Given the description of an element on the screen output the (x, y) to click on. 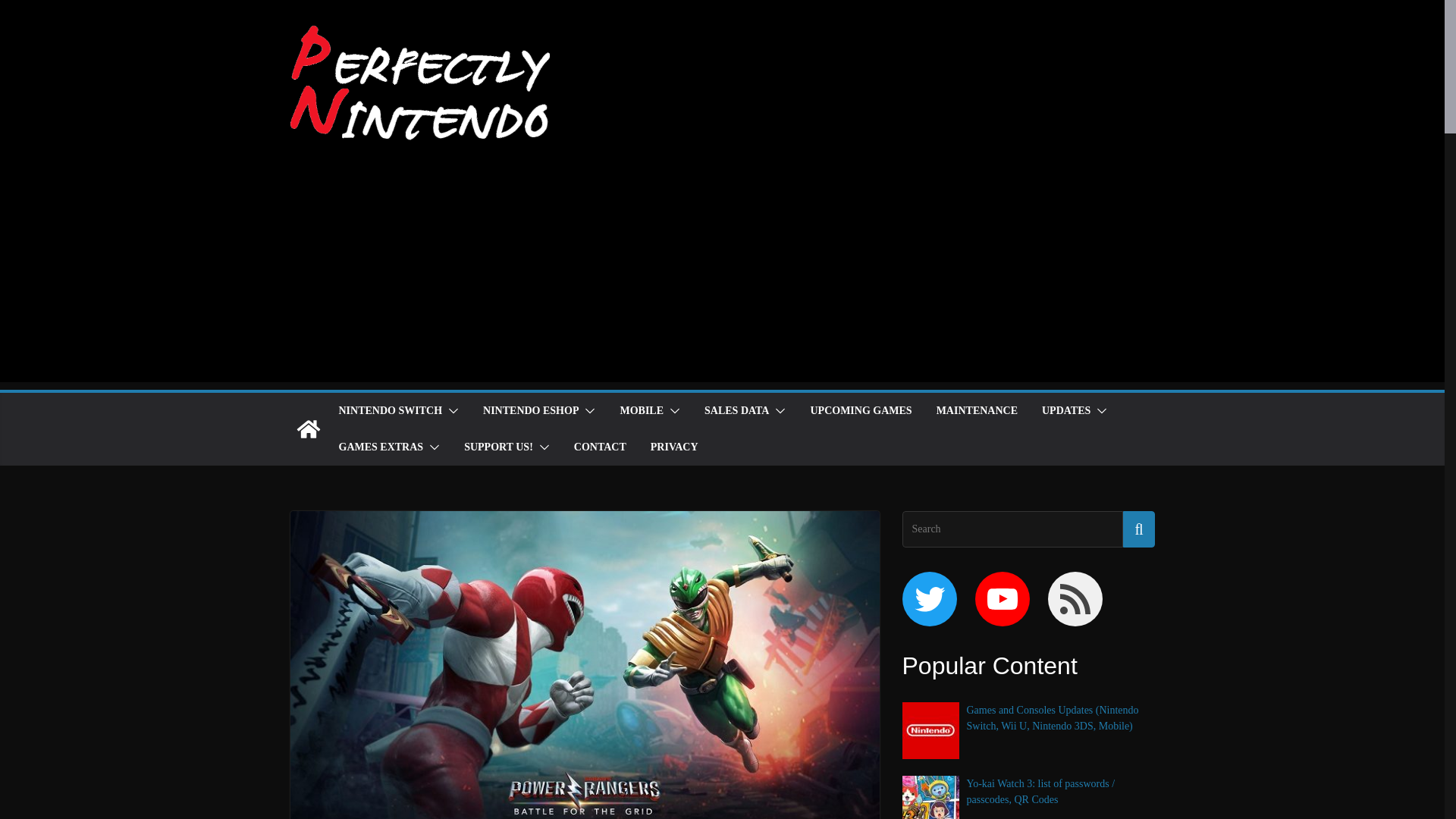
UPDATES (1066, 410)
GAMES EXTRAS (380, 446)
NINTENDO ESHOP (530, 410)
SALES DATA (736, 410)
Perfectly Nintendo (307, 429)
MAINTENANCE (976, 410)
MOBILE (641, 410)
NINTENDO SWITCH (389, 410)
UPCOMING GAMES (860, 410)
